Given the description of an element on the screen output the (x, y) to click on. 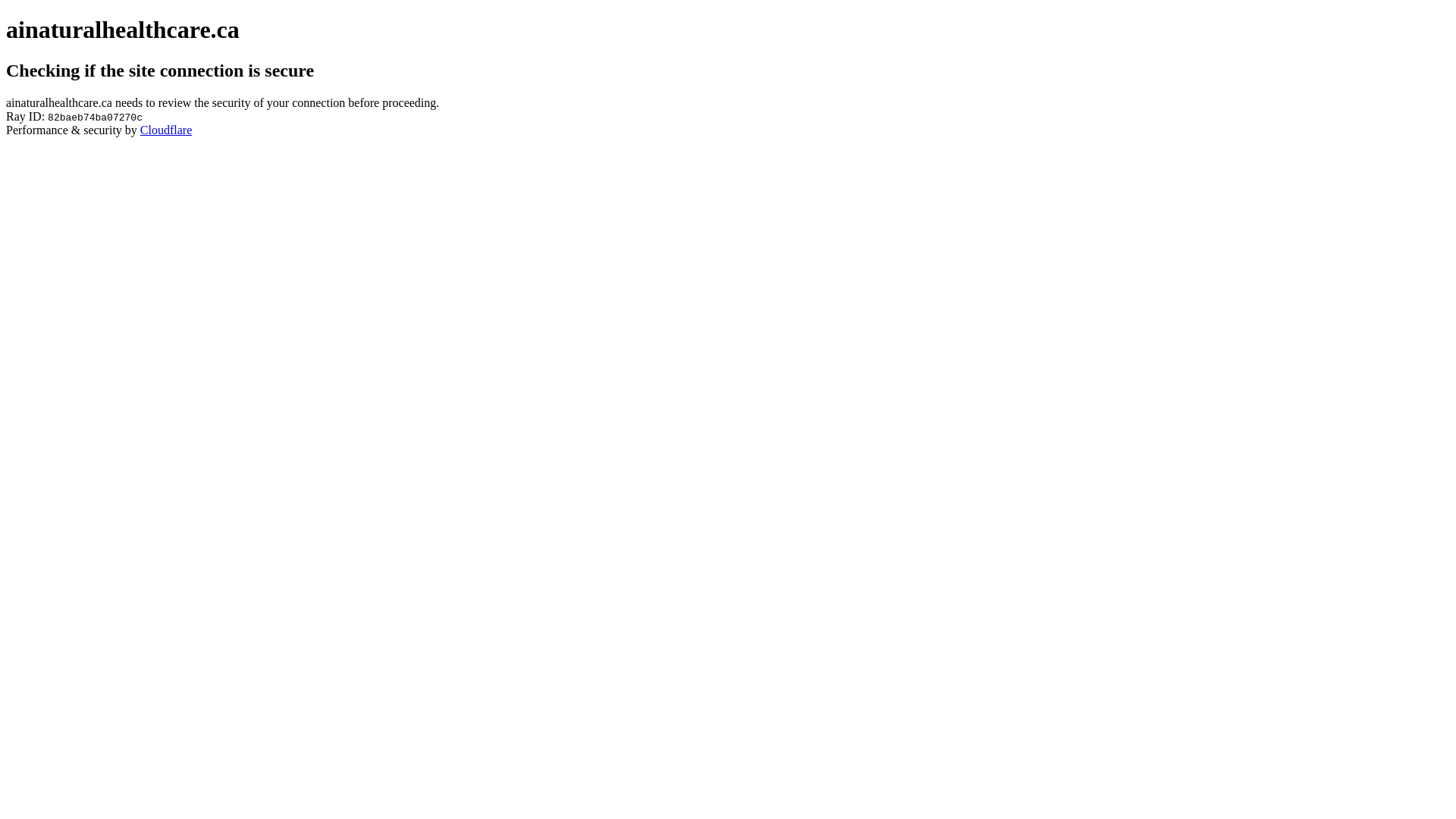
Cloudflare Element type: text (165, 129)
